Given the description of an element on the screen output the (x, y) to click on. 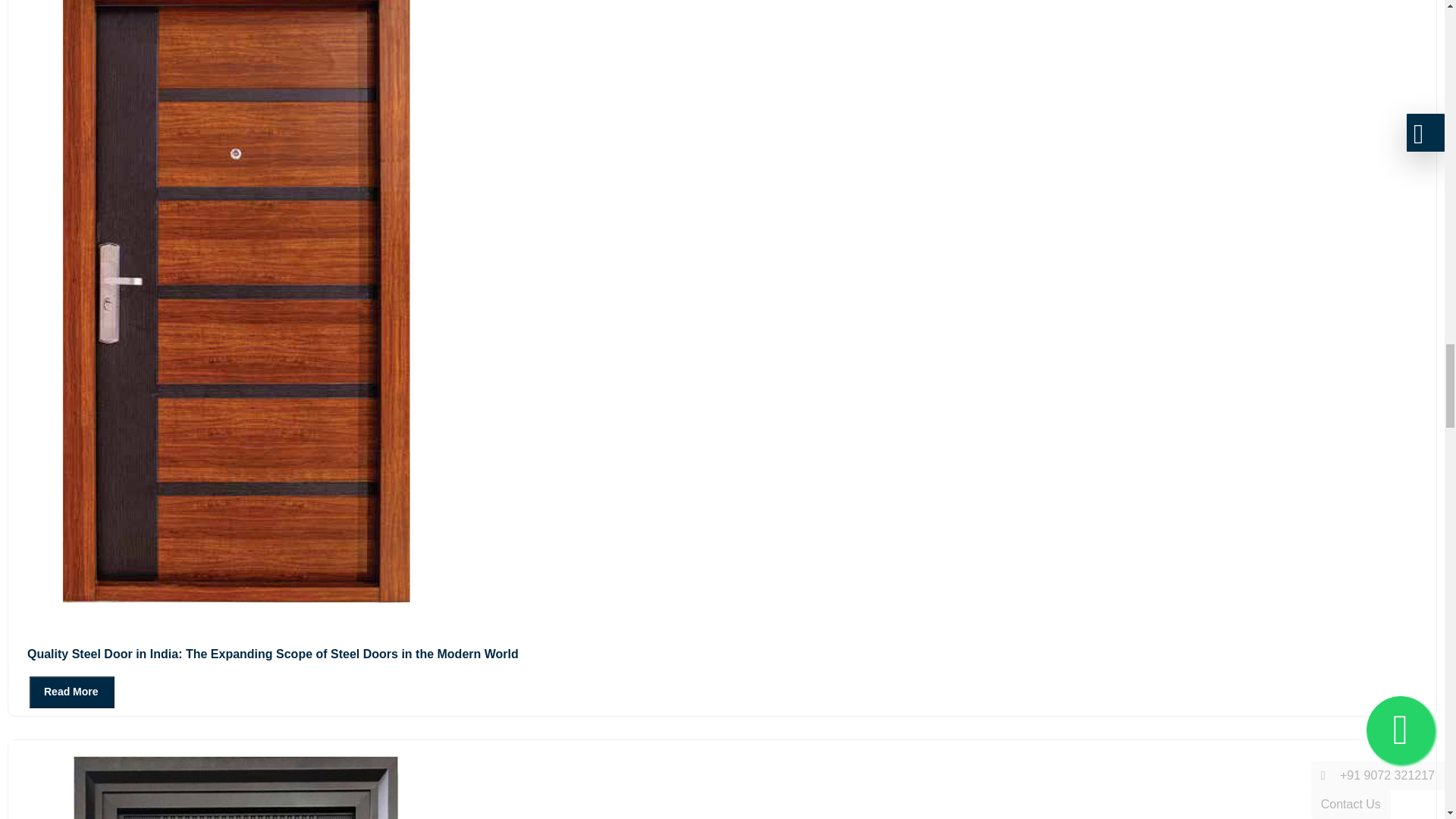
Read More (61, 690)
Read More (72, 692)
